Given the description of an element on the screen output the (x, y) to click on. 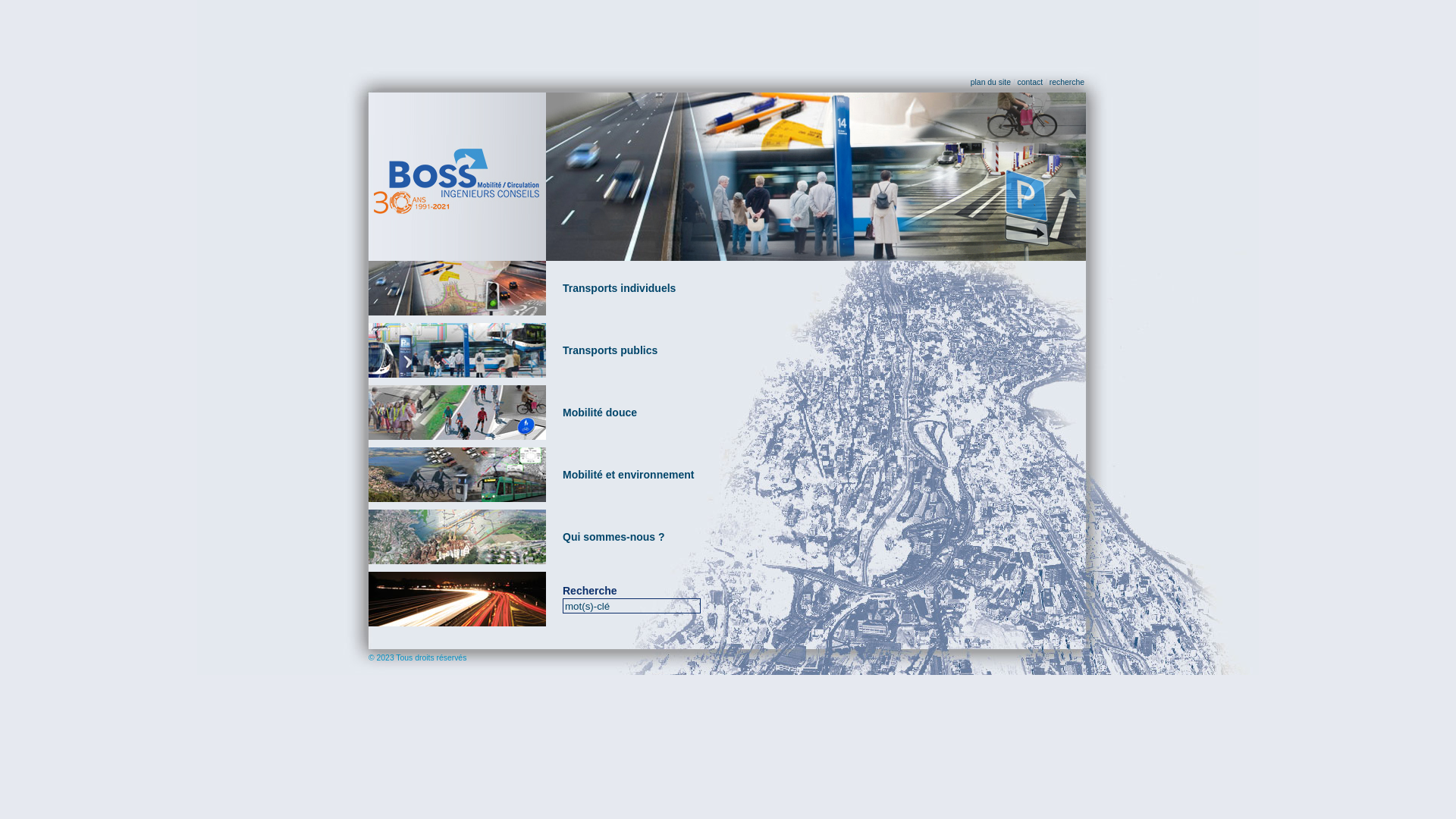
contact Element type: text (1030, 82)
Transports publics Element type: hover (457, 350)
Qui sommes-nous ? Element type: text (613, 536)
Transports individuels Element type: text (618, 288)
plan du site Element type: text (990, 82)
ok Element type: text (7, 7)
recherche Element type: text (1066, 82)
Qui sommes-nous ? Element type: hover (457, 536)
Transports publics Element type: text (609, 350)
Transports individuels Element type: hover (457, 287)
